Given the description of an element on the screen output the (x, y) to click on. 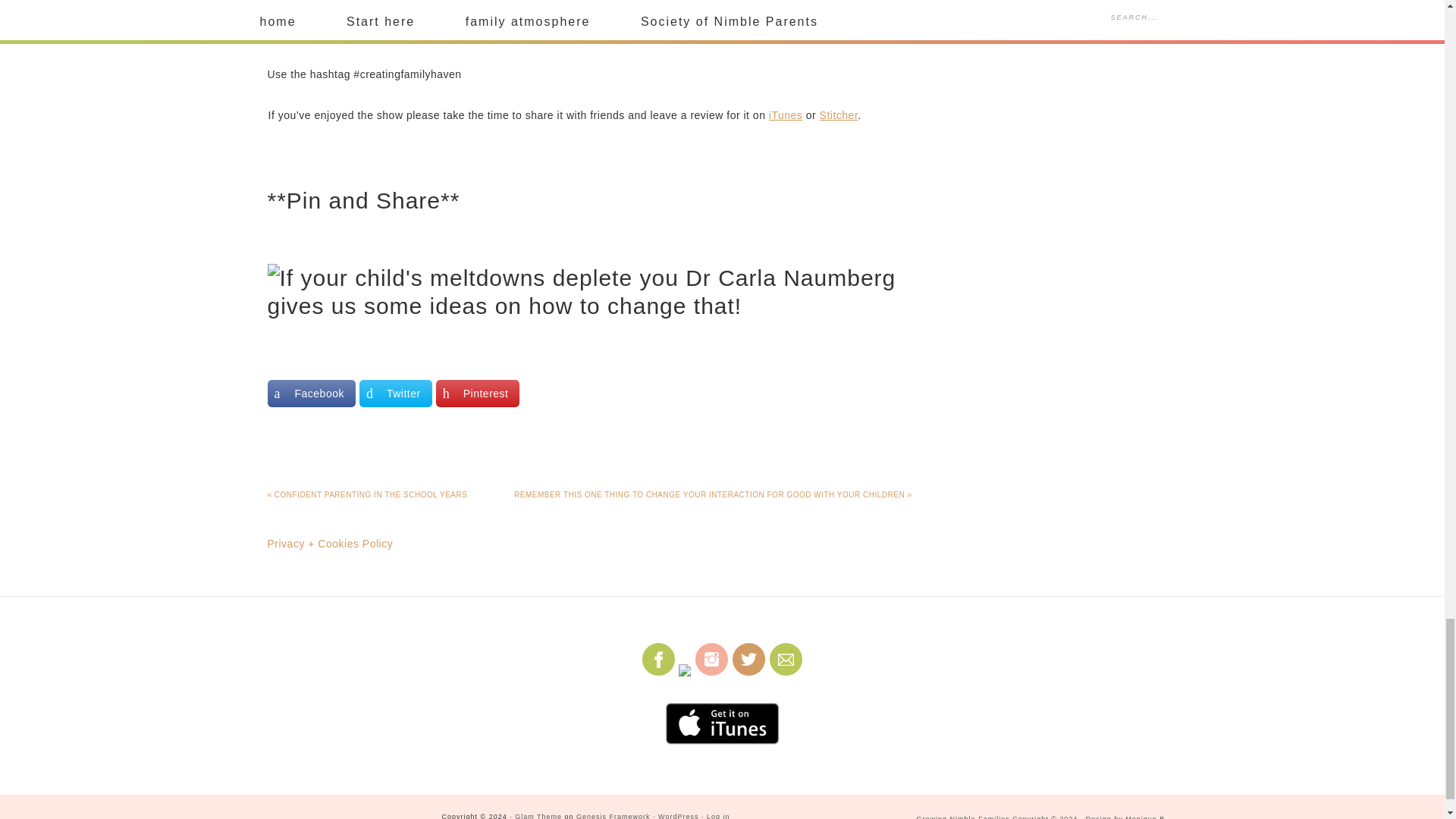
iTunes (785, 114)
Twitter (395, 393)
Voicemail (504, 33)
Share on Twitter (395, 393)
Stitcher (839, 114)
Facebook (310, 393)
Share on Facebook (310, 393)
Share on Pinterest (477, 393)
